Given the description of an element on the screen output the (x, y) to click on. 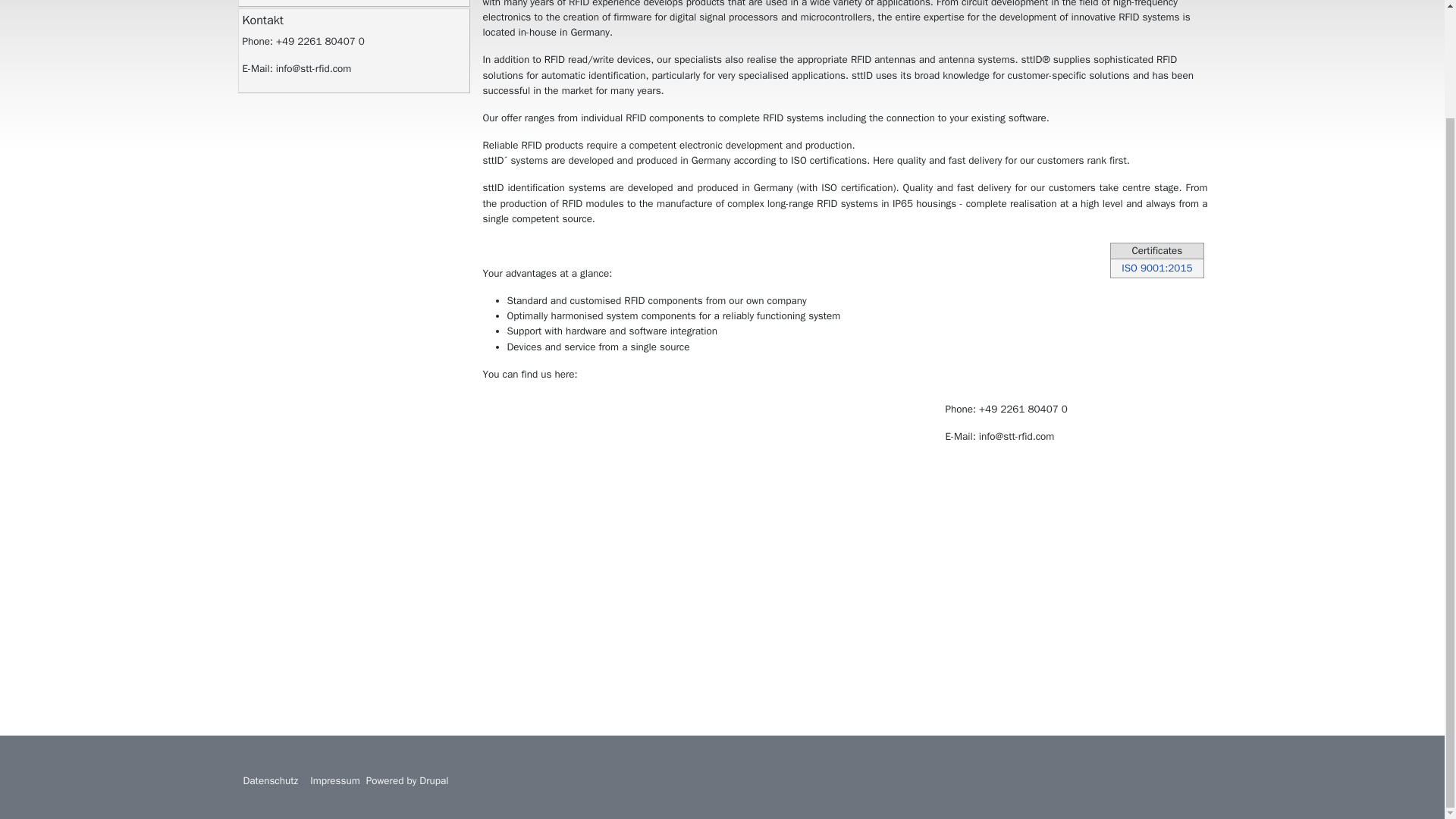
Impressum (335, 780)
ISO 9001:2015 (1156, 268)
Drupal (433, 780)
Datenschutz (269, 780)
